Given the description of an element on the screen output the (x, y) to click on. 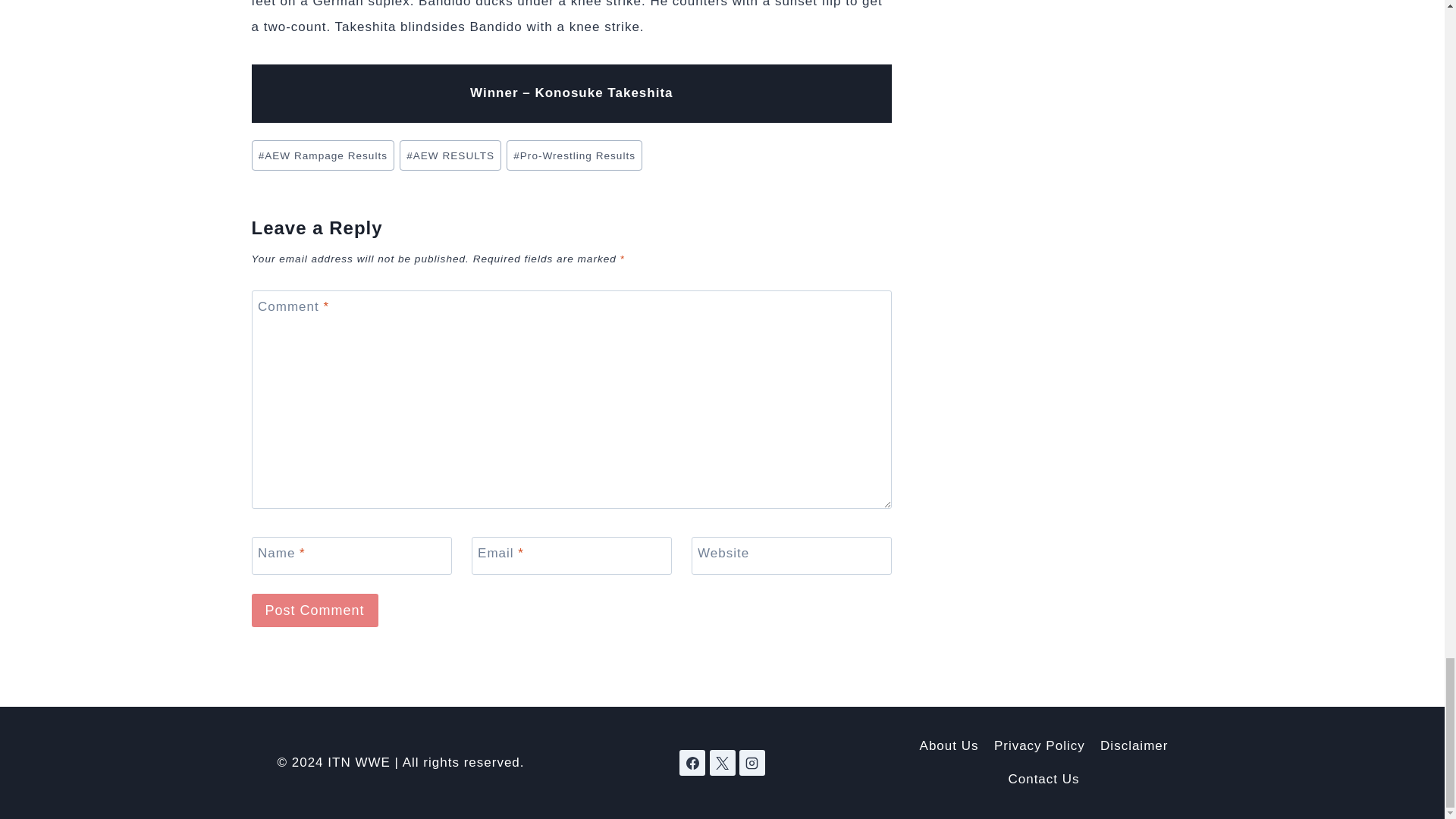
AEW RESULTS (449, 155)
Post Comment (314, 609)
AEW Rampage Results (322, 155)
Pro-Wrestling Results (574, 155)
